Given the description of an element on the screen output the (x, y) to click on. 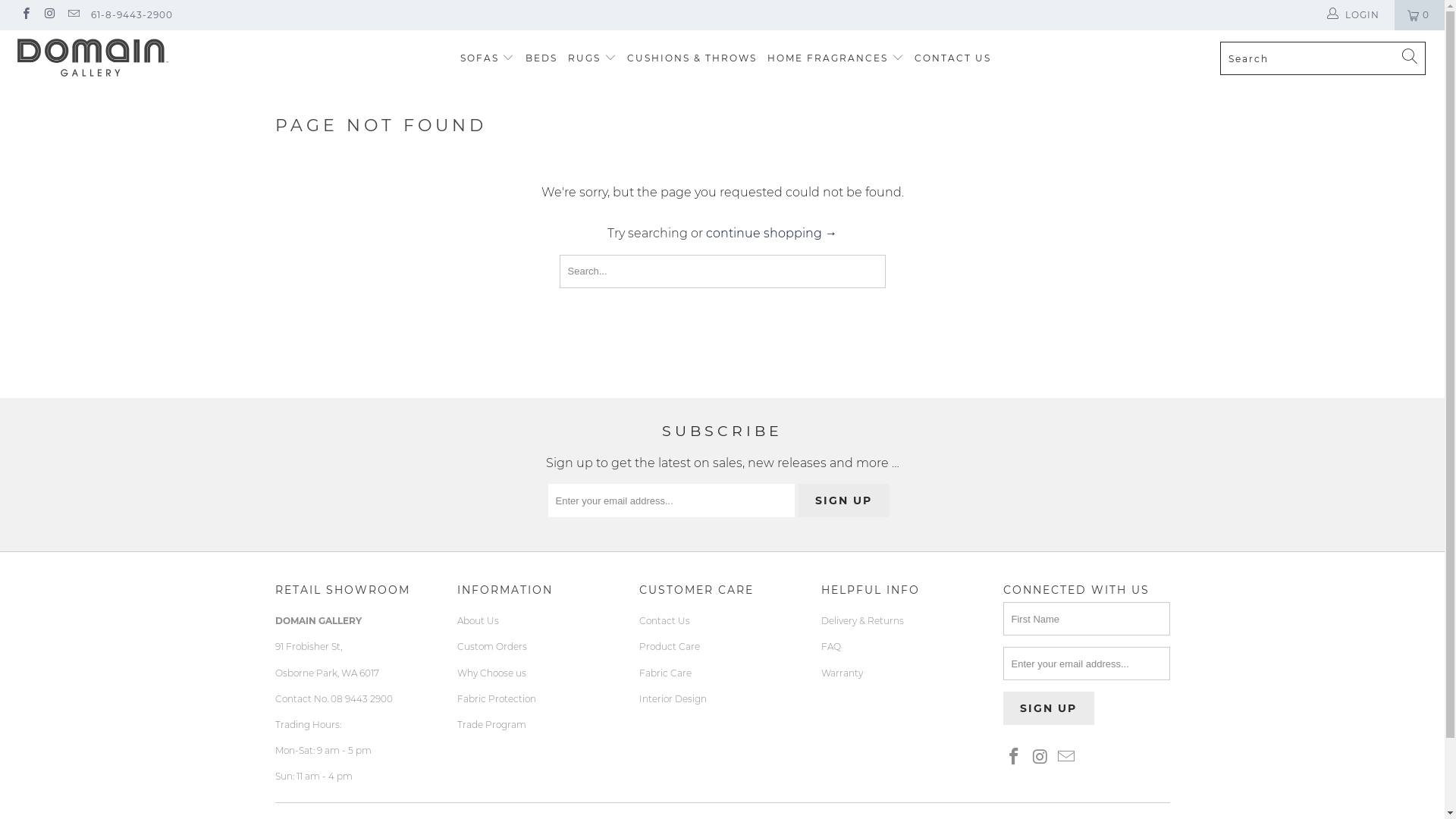
Sign Up Element type: text (1047, 707)
DomainGallery on Instagram Element type: hover (48, 14)
LOGIN Element type: text (1354, 15)
DomainGallery Element type: hover (123, 57)
08 9443 2900 Element type: text (361, 698)
0 Element type: text (1419, 15)
About Us Element type: text (477, 620)
Delivery & Returns Element type: text (861, 620)
Contact Us Element type: text (663, 620)
Fabric Protection Element type: text (495, 698)
CUSHIONS & THROWS Element type: text (691, 58)
91 Frobisher St, Element type: text (307, 646)
BEDS Element type: text (541, 58)
Custom Orders Element type: text (491, 646)
Sign Up Element type: text (842, 500)
CONTACT US Element type: text (952, 58)
61-8-9443-2900 Element type: text (131, 15)
FAQ Element type: text (830, 646)
HOME FRAGRANCES Element type: text (835, 58)
Osborne Park, WA 6017 Element type: text (326, 672)
Email DomainGallery Element type: hover (1066, 757)
RUGS Element type: text (591, 58)
Interior Design Element type: text (672, 698)
DomainGallery on Instagram Element type: hover (1040, 757)
DomainGallery on Facebook Element type: hover (24, 14)
Product Care Element type: text (668, 646)
Trade Program Element type: text (490, 724)
Why Choose us Element type: text (490, 672)
SOFAS Element type: text (487, 58)
Fabric Care Element type: text (664, 672)
DomainGallery on Facebook Element type: hover (1013, 757)
Email DomainGallery Element type: hover (72, 14)
Warranty Element type: text (841, 672)
